Given the description of an element on the screen output the (x, y) to click on. 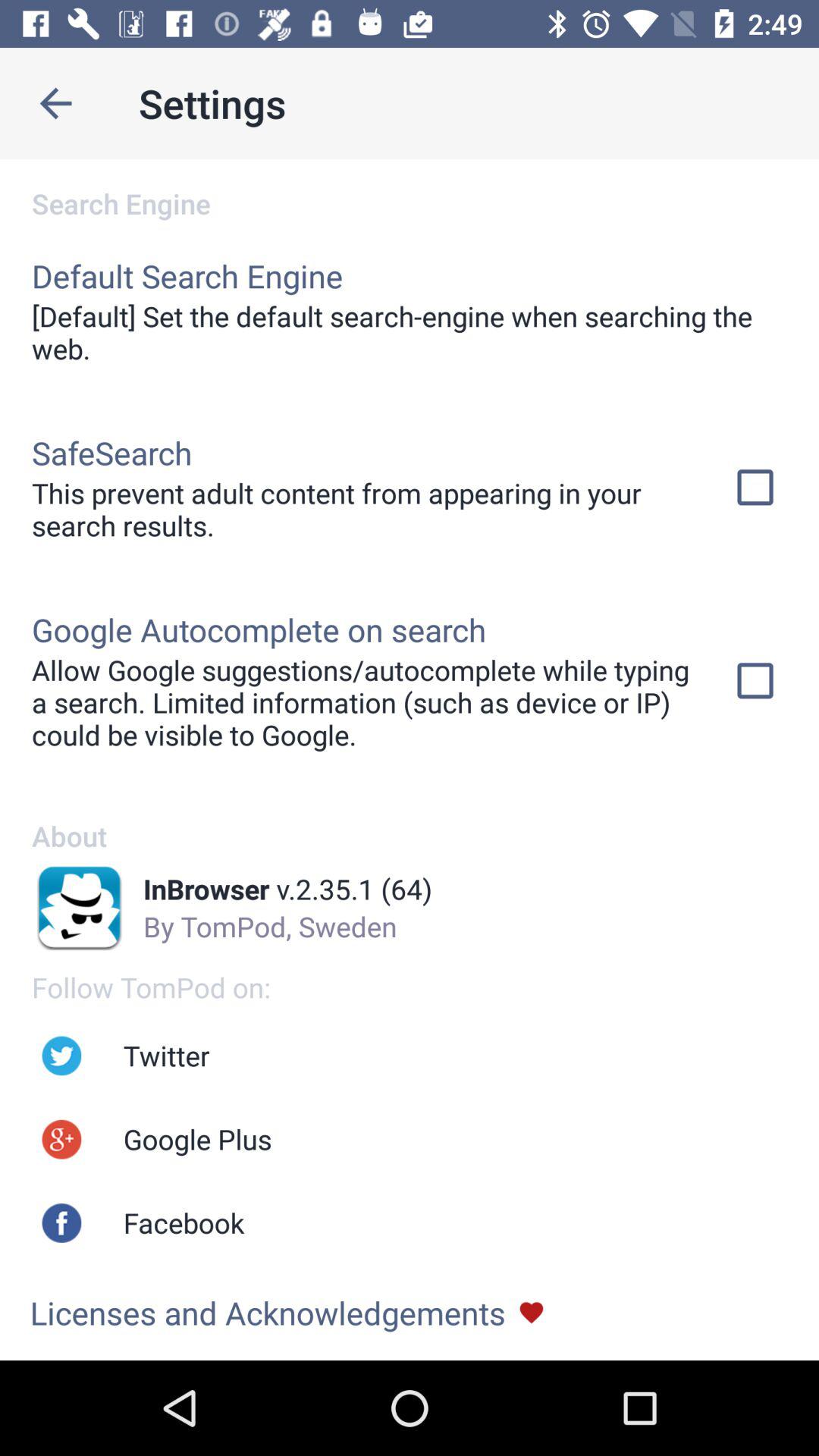
swipe to the twitter item (166, 1055)
